Given the description of an element on the screen output the (x, y) to click on. 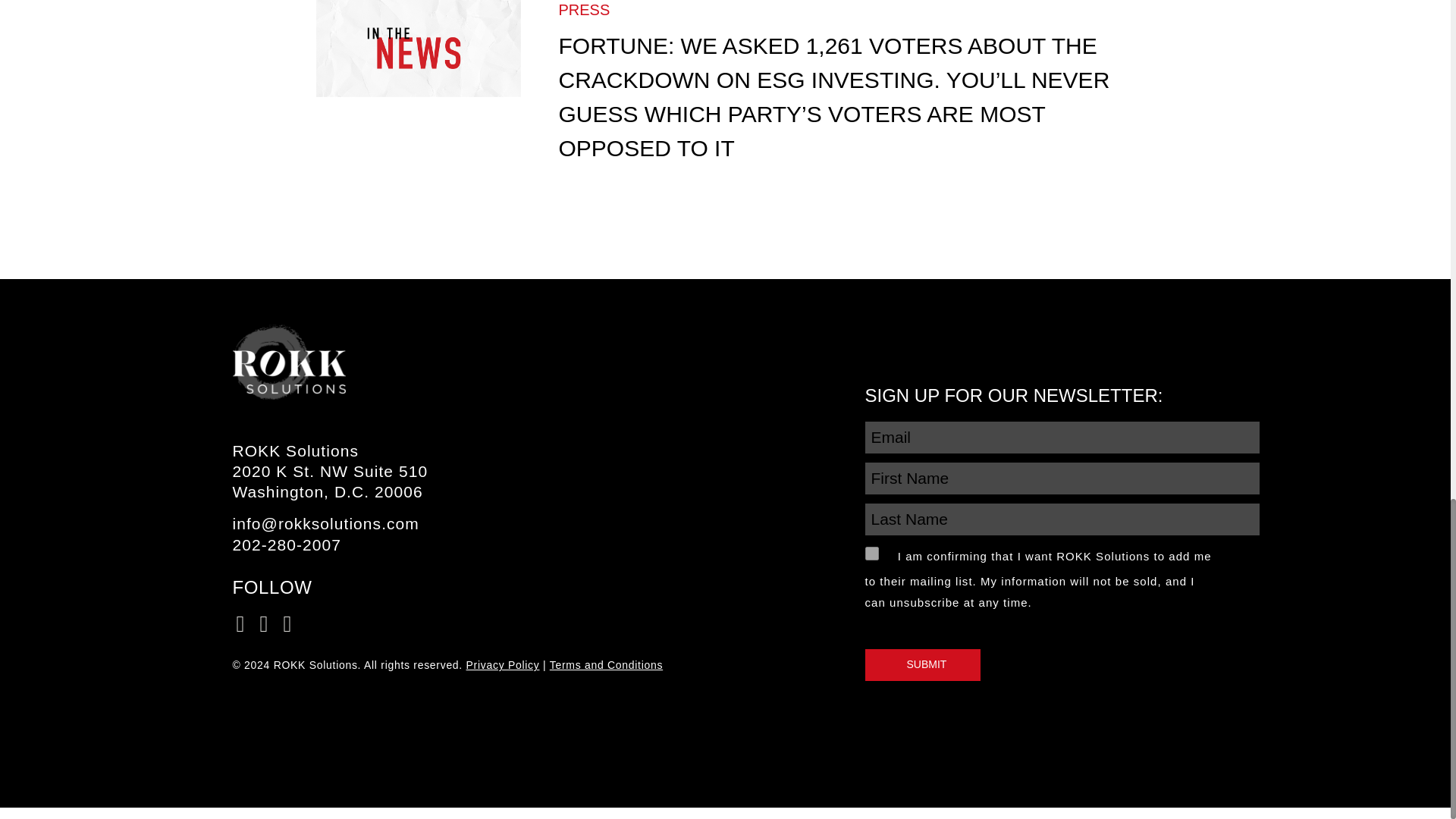
Submit (921, 664)
Submit (921, 664)
Terms and Conditions (606, 664)
202-280-2007 (285, 544)
Privacy Policy (502, 664)
